Given the description of an element on the screen output the (x, y) to click on. 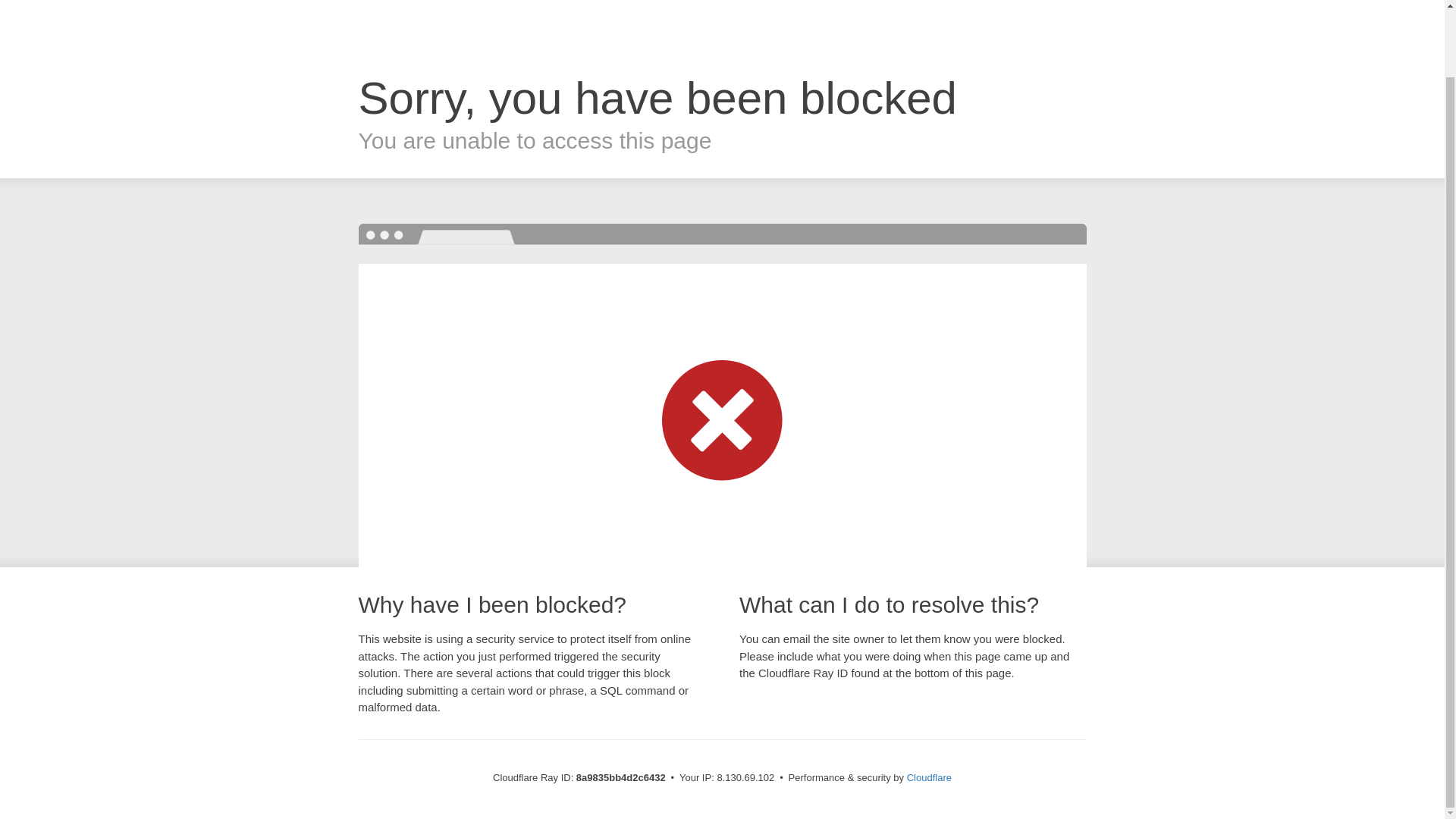
Cloudflare (929, 777)
